Given the description of an element on the screen output the (x, y) to click on. 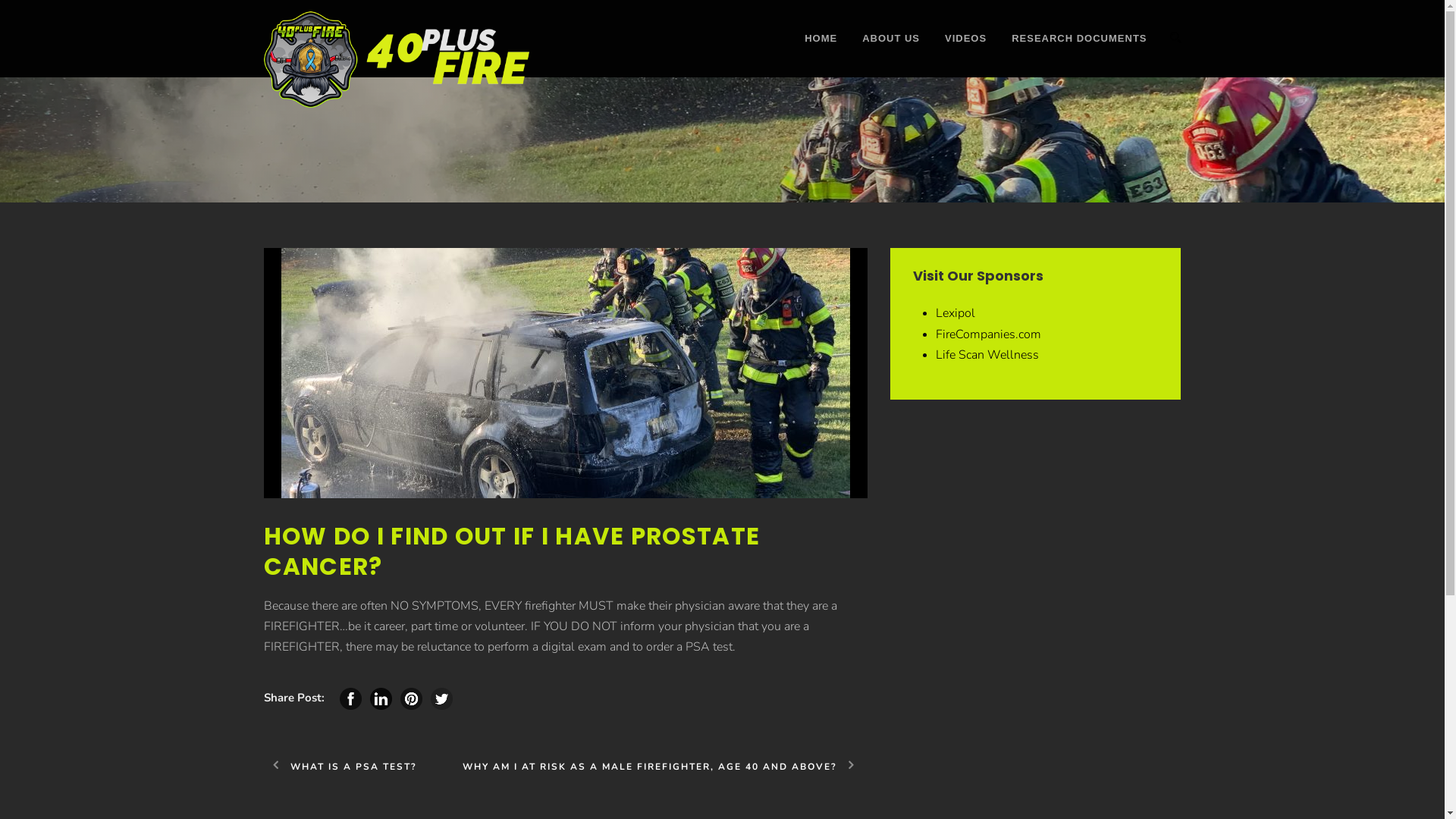
VIDEOS Element type: text (952, 53)
FireCompanies.com Element type: text (988, 334)
RESEARCH DOCUMENTS Element type: text (1066, 53)
Lexipol Element type: text (955, 312)
ABOUT US Element type: text (878, 53)
HOME Element type: text (820, 53)
Life Scan Wellness Element type: text (986, 354)
WHAT IS A PSA TEST? Element type: text (340, 766)
WHY AM I AT RISK AS A MALE FIREFIGHTER, AGE 40 AND ABOVE? Element type: text (664, 766)
